Given the description of an element on the screen output the (x, y) to click on. 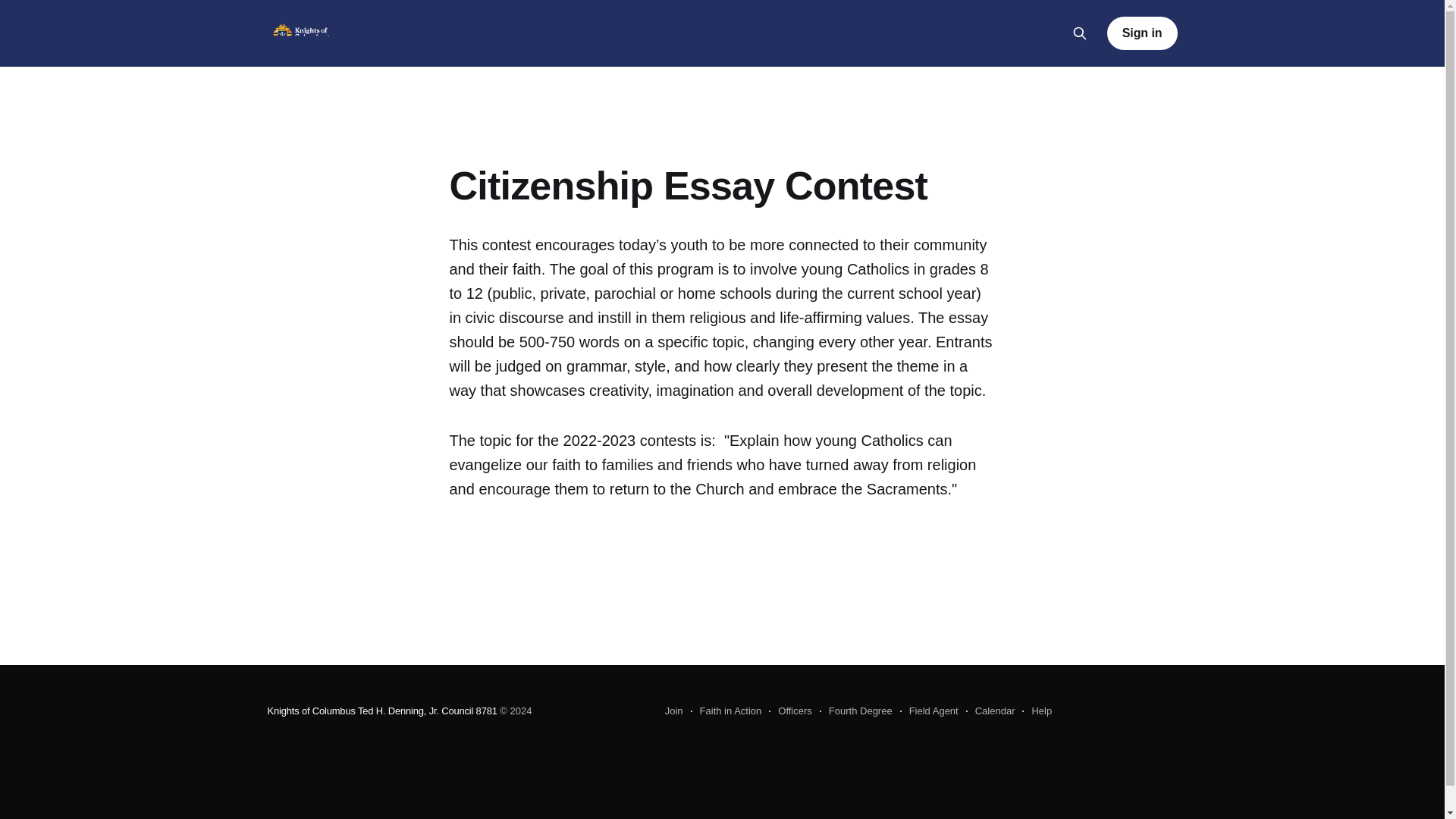
Faith in Action (725, 711)
Calendar (990, 711)
Officers (790, 711)
Help (1036, 711)
Sign in (1141, 32)
Knights of Columbus Ted H. Denning, Jr. Council 8781 (381, 710)
Fourth Degree (855, 711)
Field Agent (928, 711)
Join (673, 711)
